Given the description of an element on the screen output the (x, y) to click on. 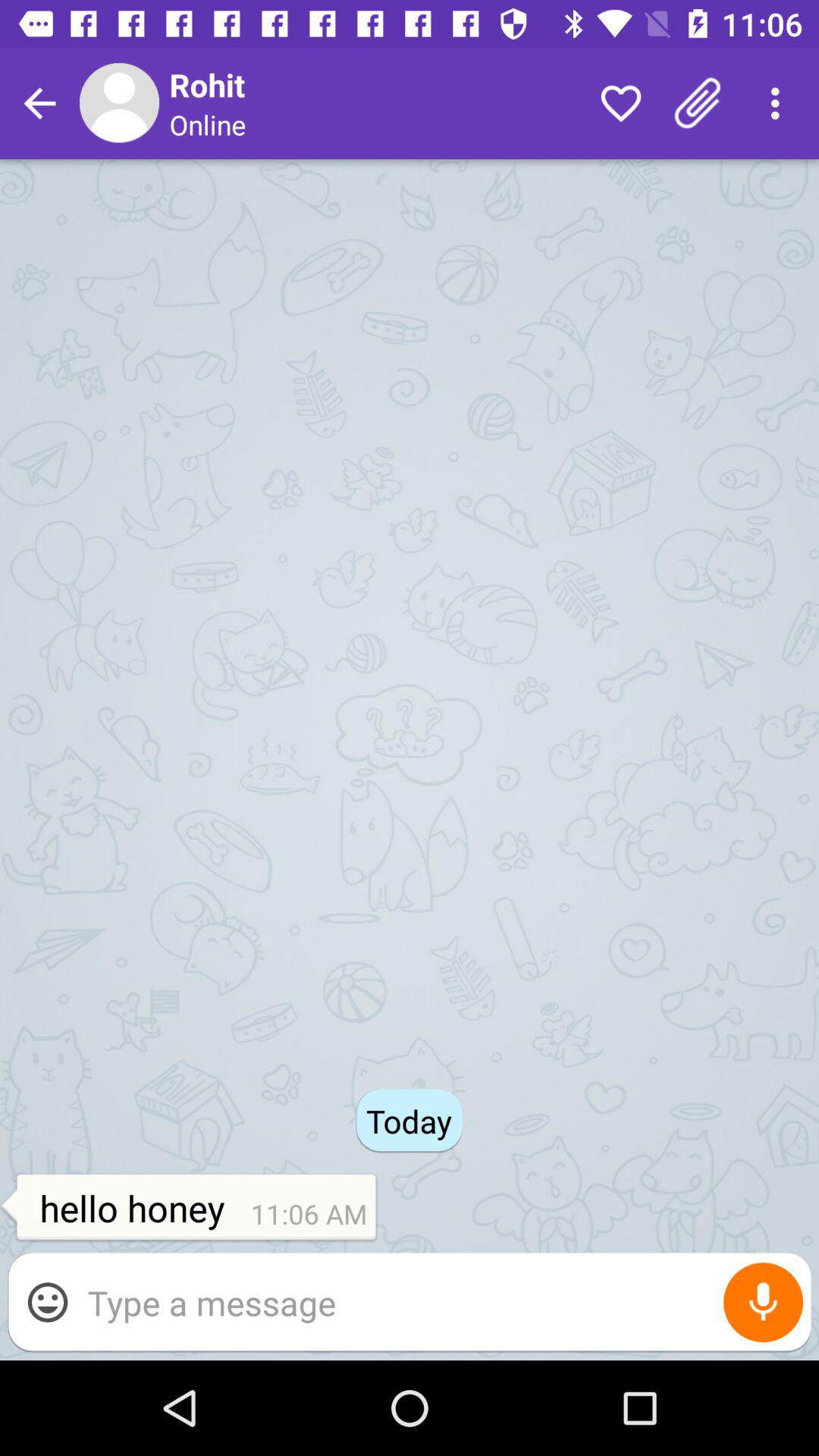
type a message (441, 1302)
